Given the description of an element on the screen output the (x, y) to click on. 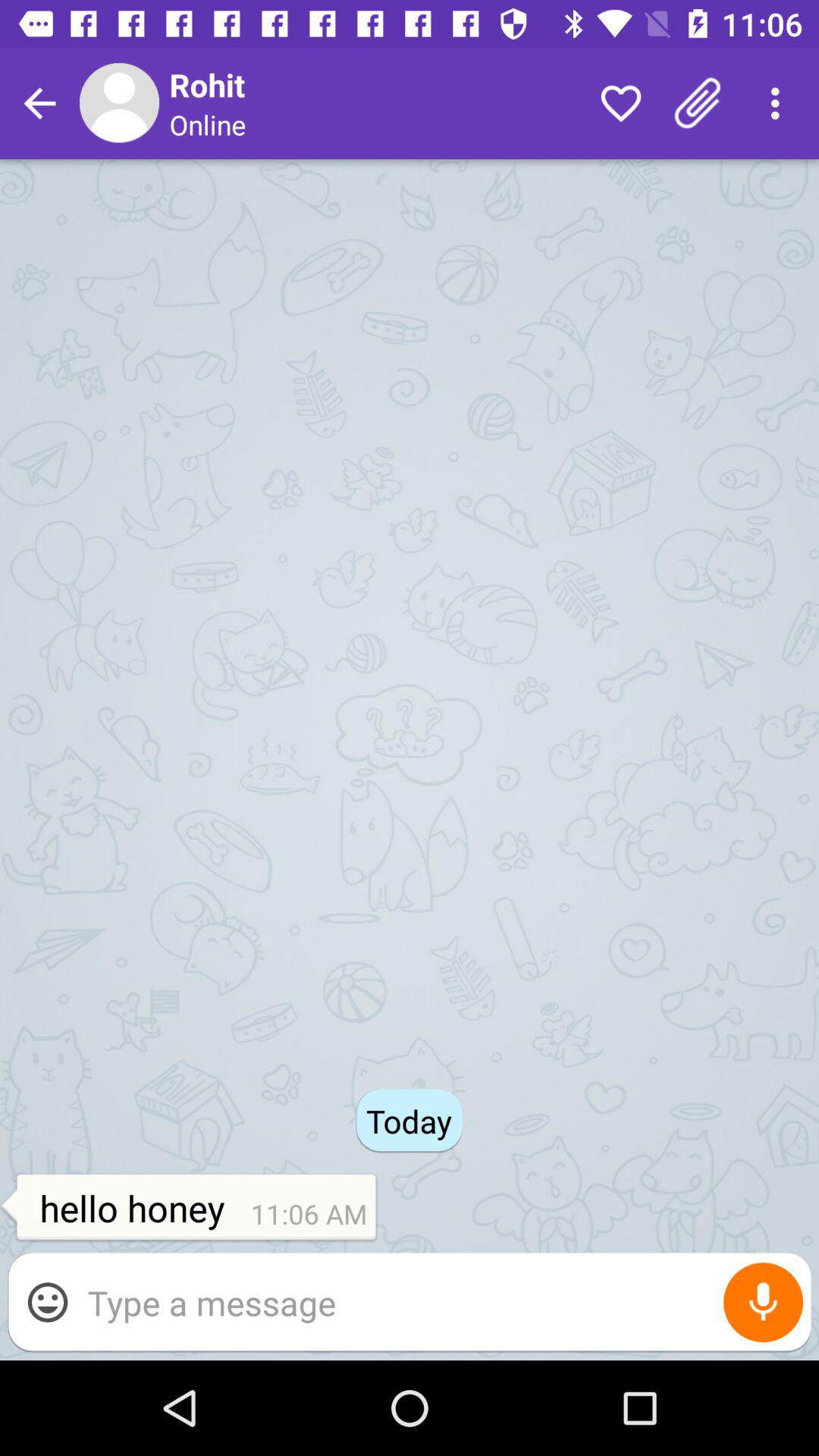
type a message (441, 1302)
